Given the description of an element on the screen output the (x, y) to click on. 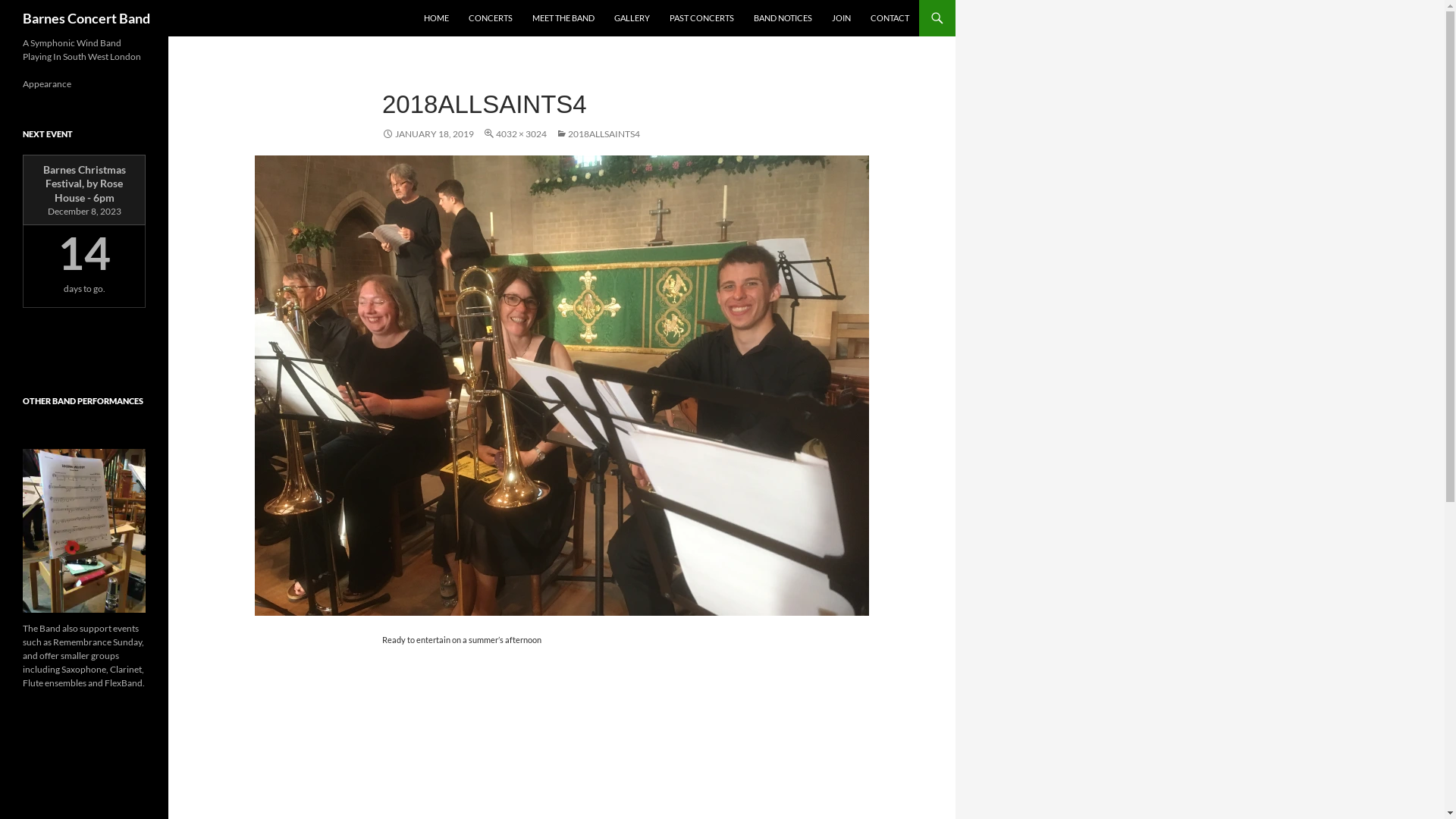
2018ALLSAINTS4 Element type: text (597, 133)
JOIN Element type: text (840, 18)
BAND NOTICES Element type: text (782, 18)
GALLERY Element type: text (631, 18)
CONCERTS Element type: text (490, 18)
CONTACT Element type: text (889, 18)
Barnes Concert Band Element type: text (86, 18)
MEET THE BAND Element type: text (563, 18)
PAST CONCERTS Element type: text (701, 18)
HOME Element type: text (436, 18)
